Given the description of an element on the screen output the (x, y) to click on. 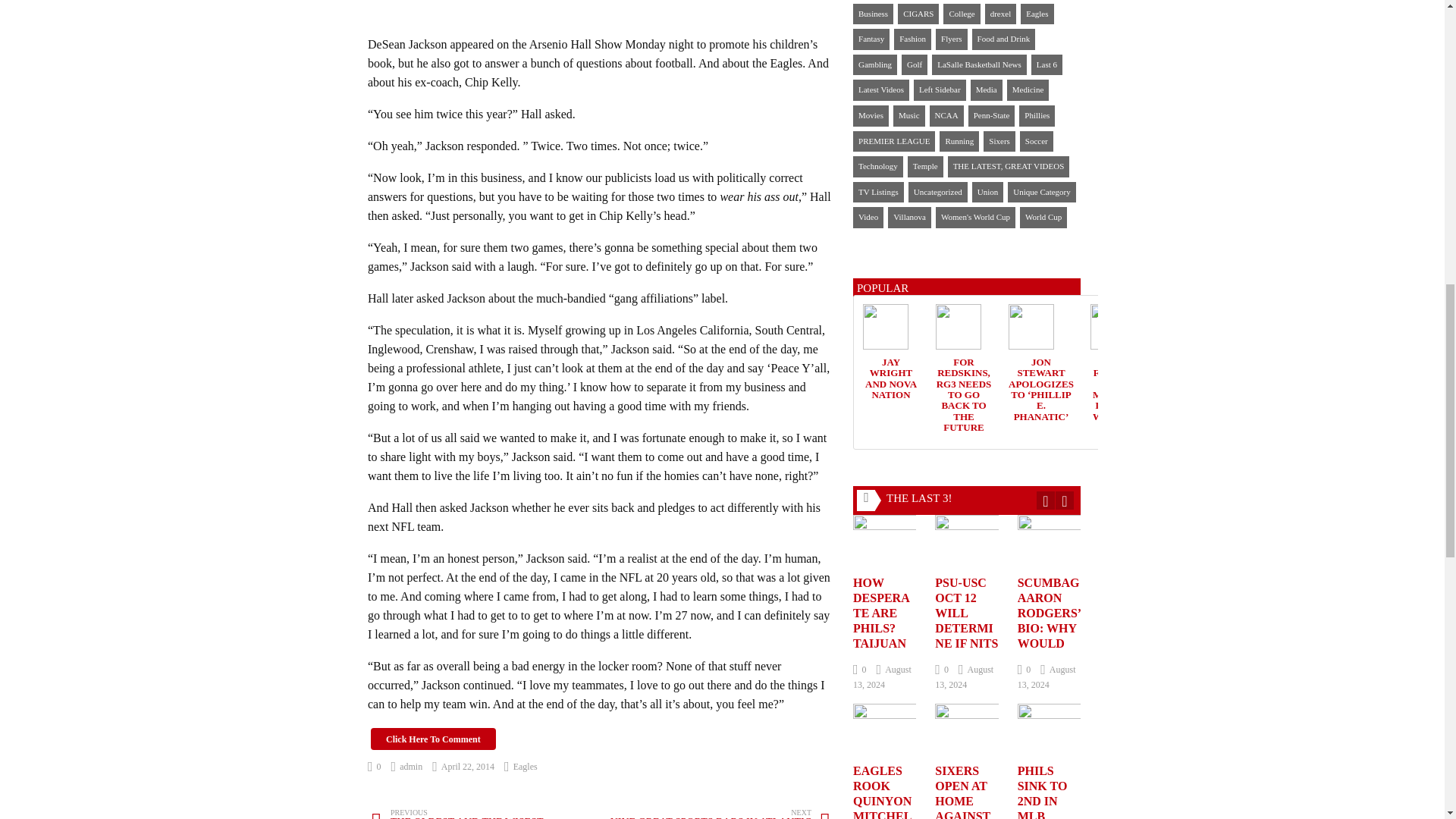
Posts by admin (485, 813)
April 22, 2014 (716, 813)
0 (407, 766)
admin (463, 766)
Eagles (374, 766)
Click Here To Comment (407, 766)
